Given the description of an element on the screen output the (x, y) to click on. 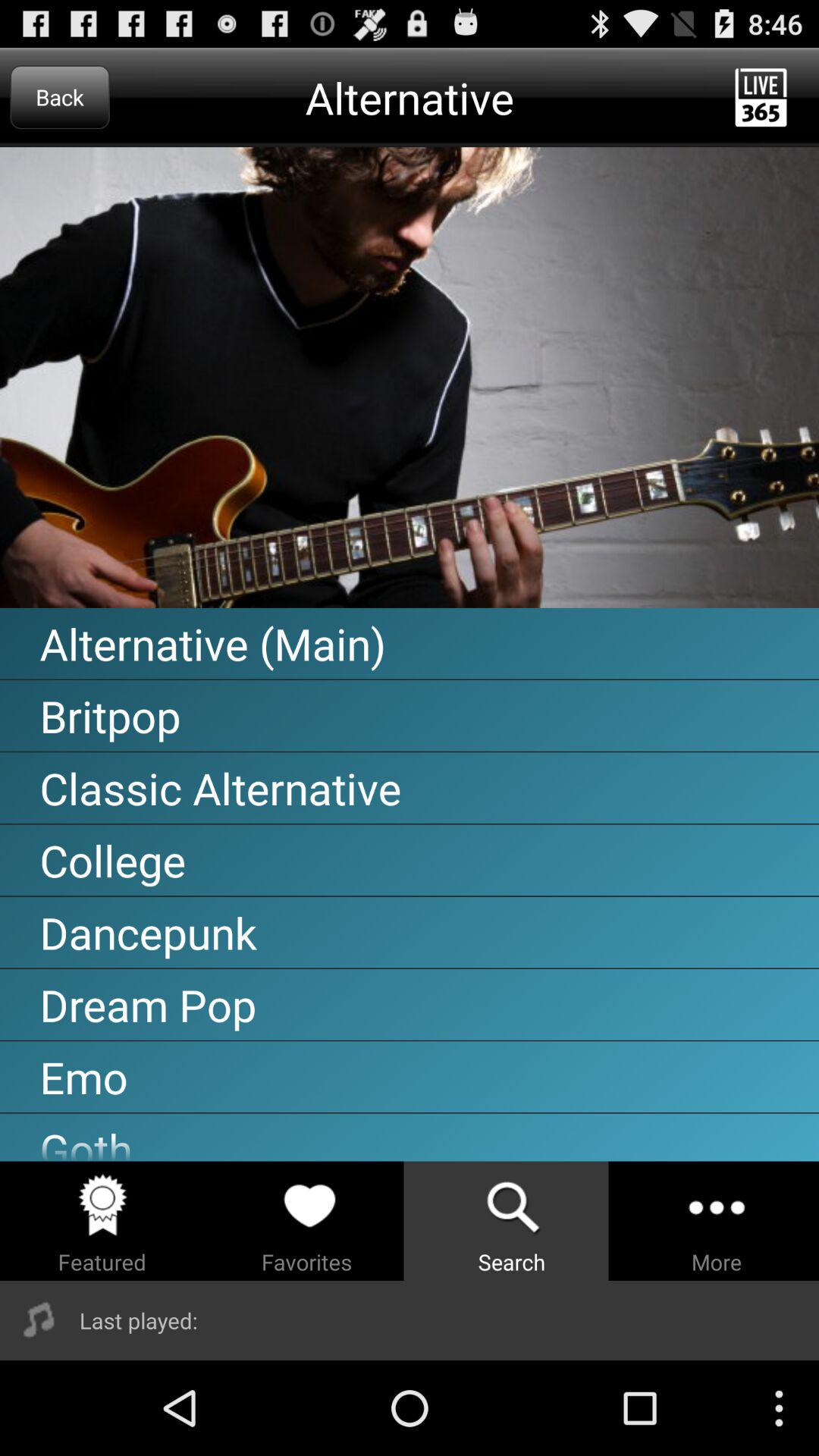
jump until back item (59, 97)
